Given the description of an element on the screen output the (x, y) to click on. 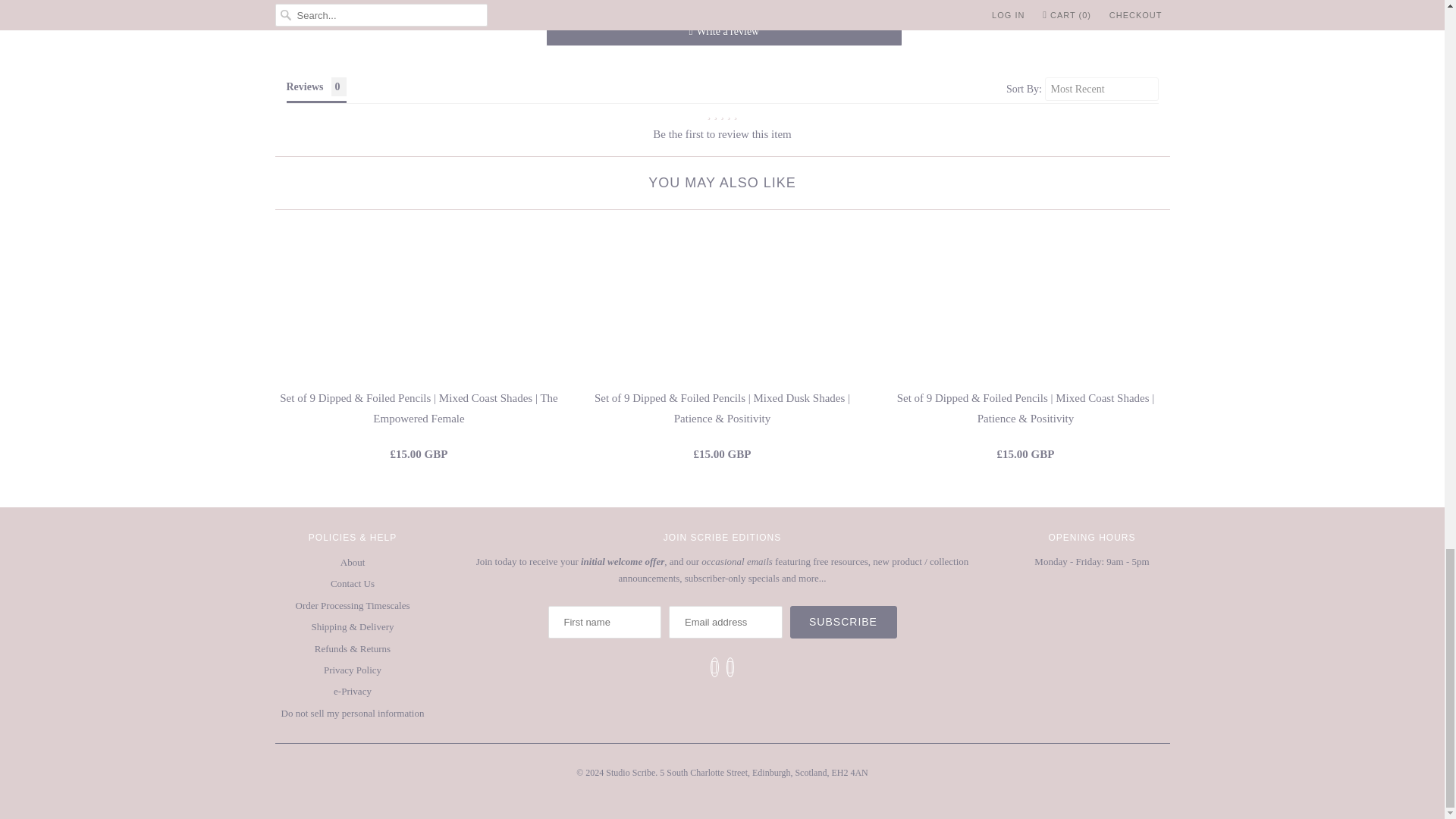
Subscribe (843, 622)
